Given the description of an element on the screen output the (x, y) to click on. 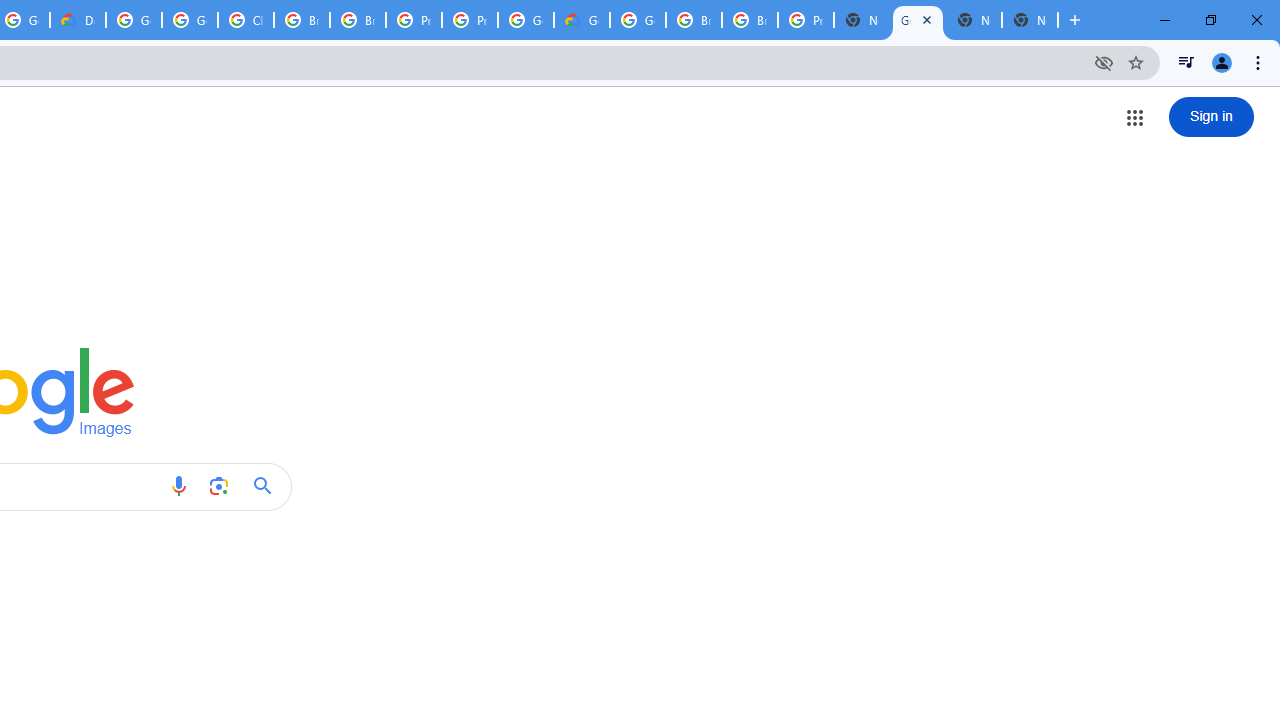
Google Cloud Platform (525, 20)
Google Search (268, 485)
Google Cloud Estimate Summary (582, 20)
Google Cloud Platform (134, 20)
New Tab (861, 20)
